Given the description of an element on the screen output the (x, y) to click on. 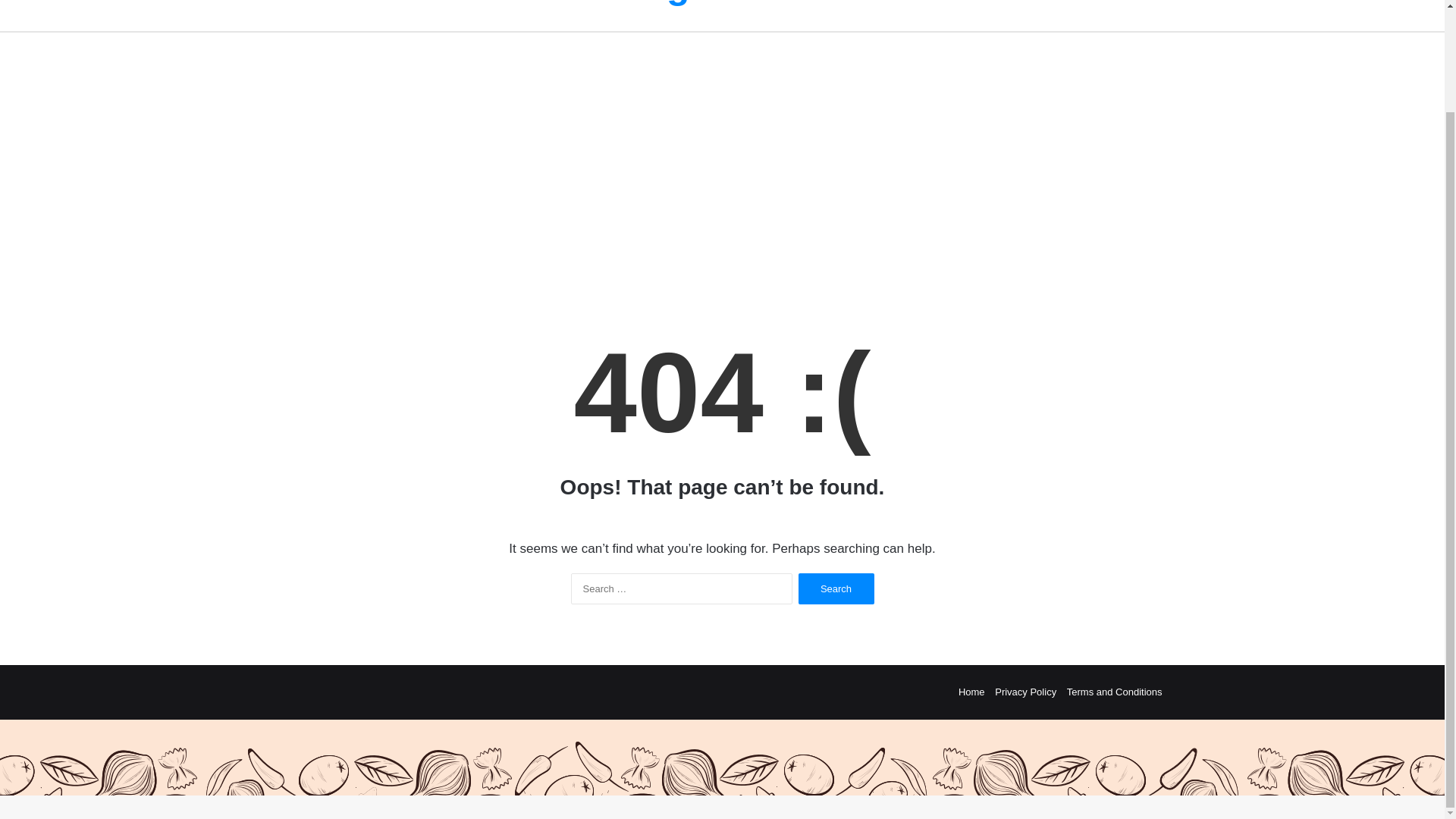
Terms and Conditions (1114, 691)
Search (835, 588)
Privacy Policy (1025, 691)
leightorres (721, 2)
Search (835, 588)
leightorres (721, 2)
Home (971, 691)
Search (835, 588)
